Given the description of an element on the screen output the (x, y) to click on. 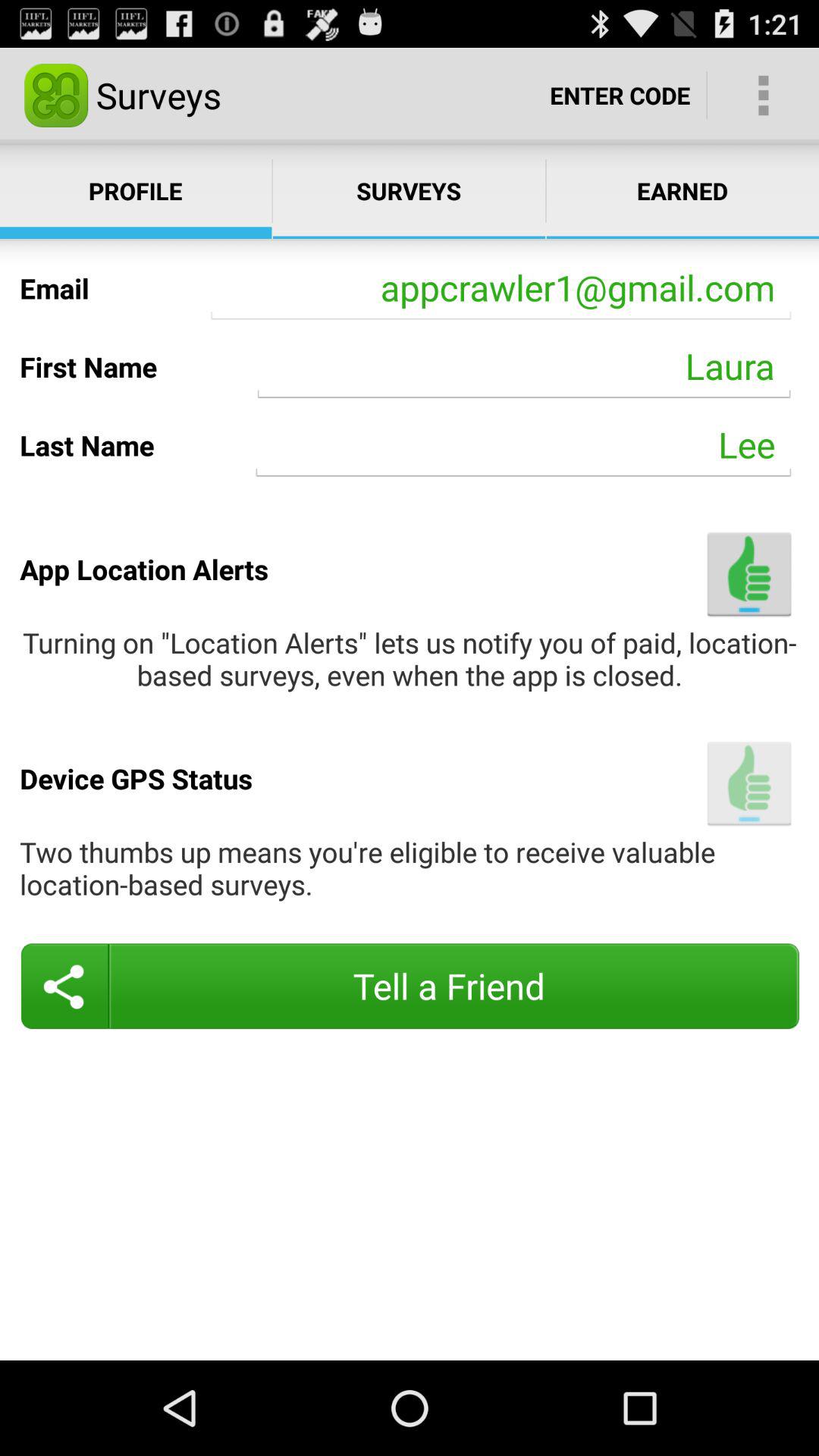
turn off item below appcrawler1@gmail.com item (523, 366)
